Given the description of an element on the screen output the (x, y) to click on. 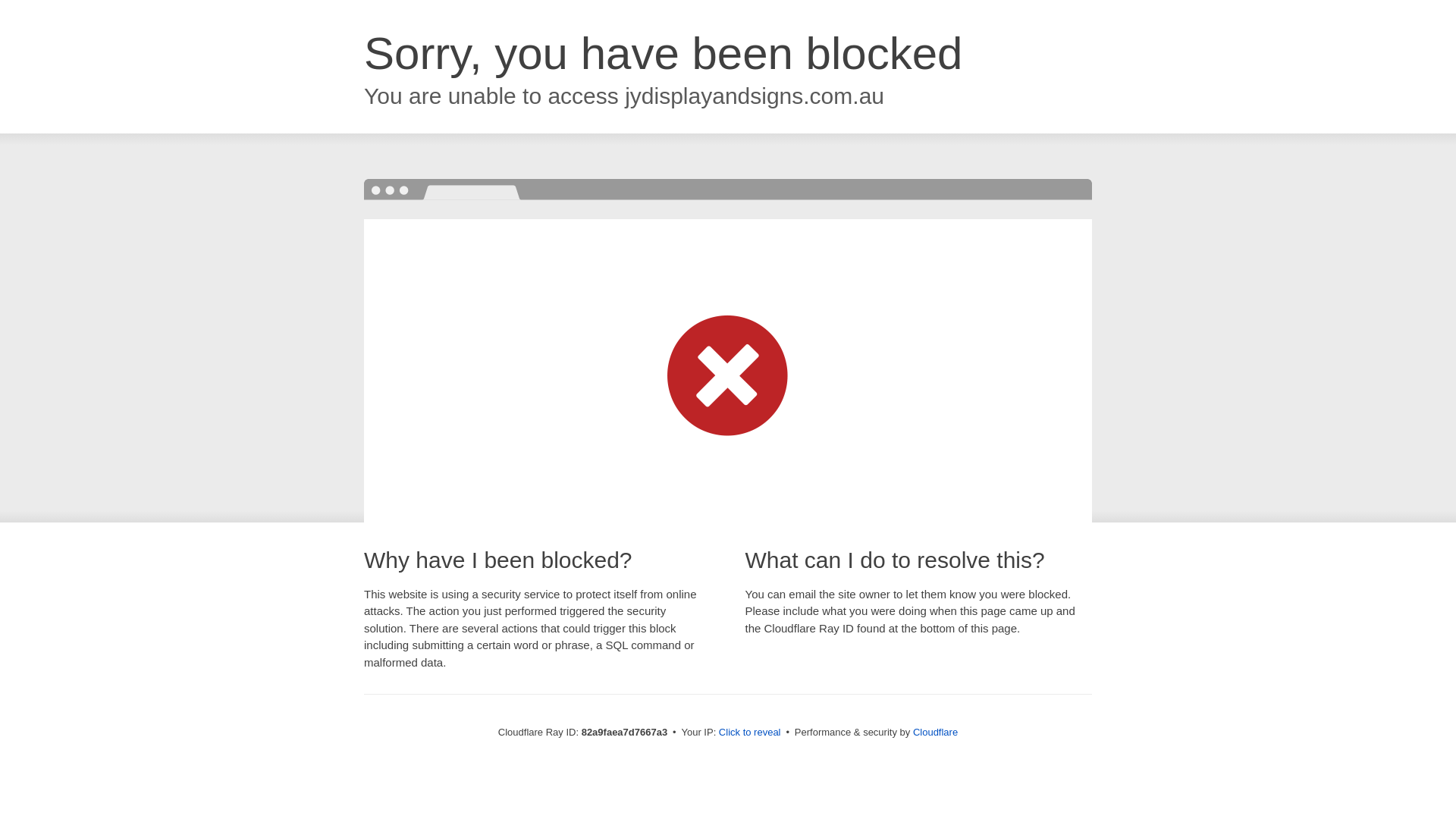
Cloudflare Element type: text (935, 731)
Click to reveal Element type: text (749, 732)
